Given the description of an element on the screen output the (x, y) to click on. 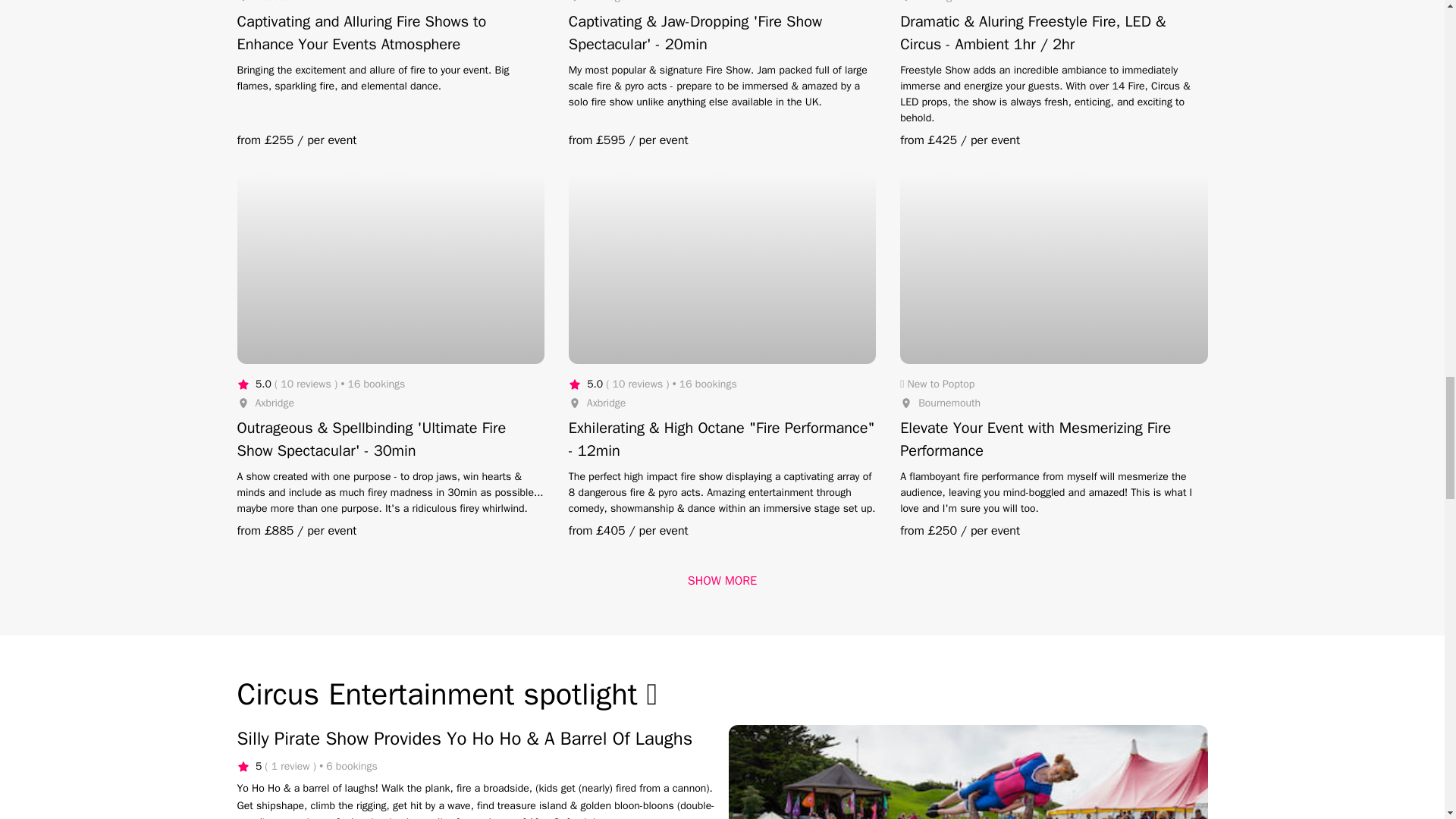
SHOW MORE (721, 580)
